Given the description of an element on the screen output the (x, y) to click on. 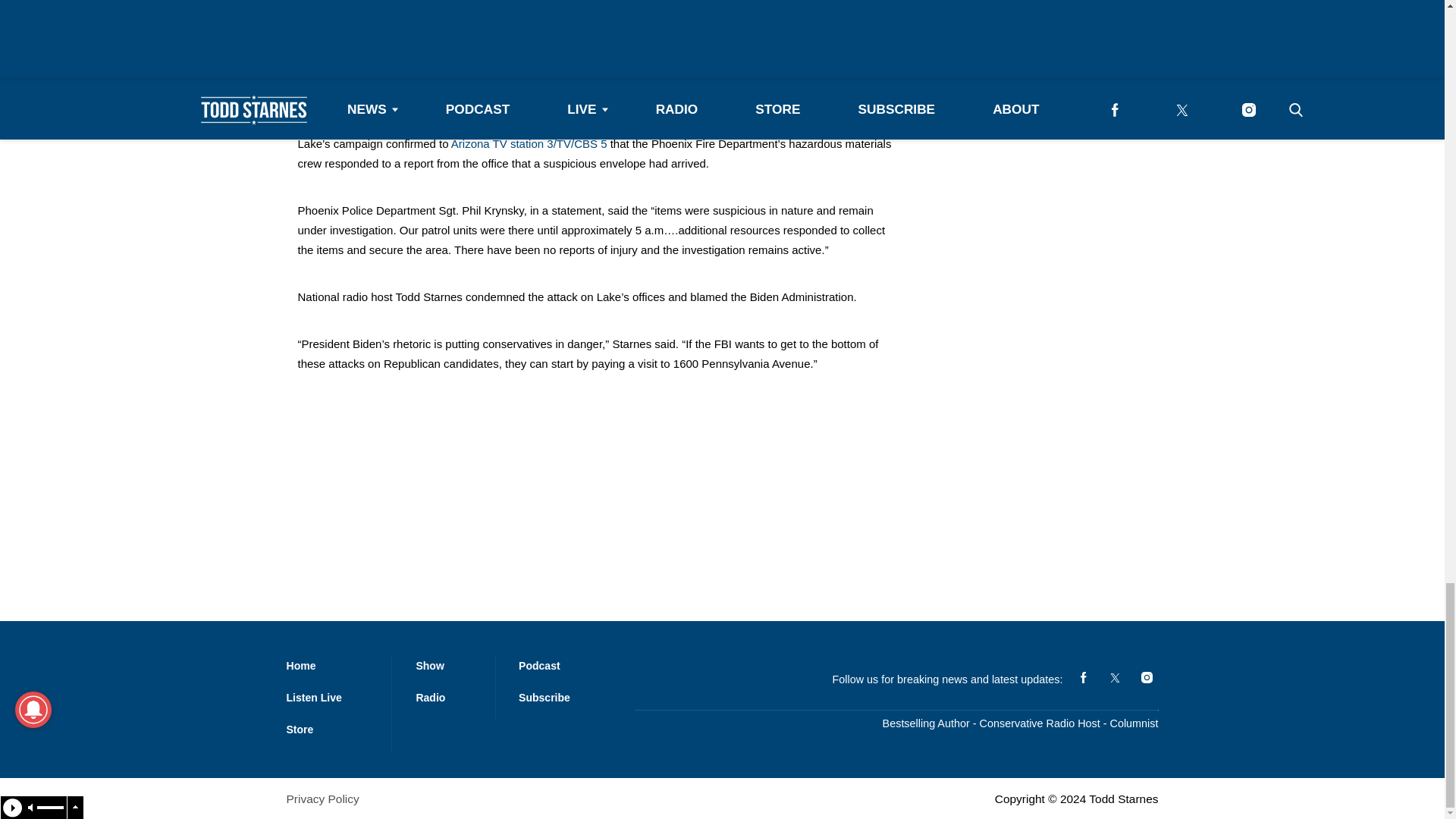
Follow us on Facebook (1082, 677)
Follow us on Instagram (1146, 677)
Follow us on Twitter (1114, 677)
November 6, 2022 (660, 31)
